Given the description of an element on the screen output the (x, y) to click on. 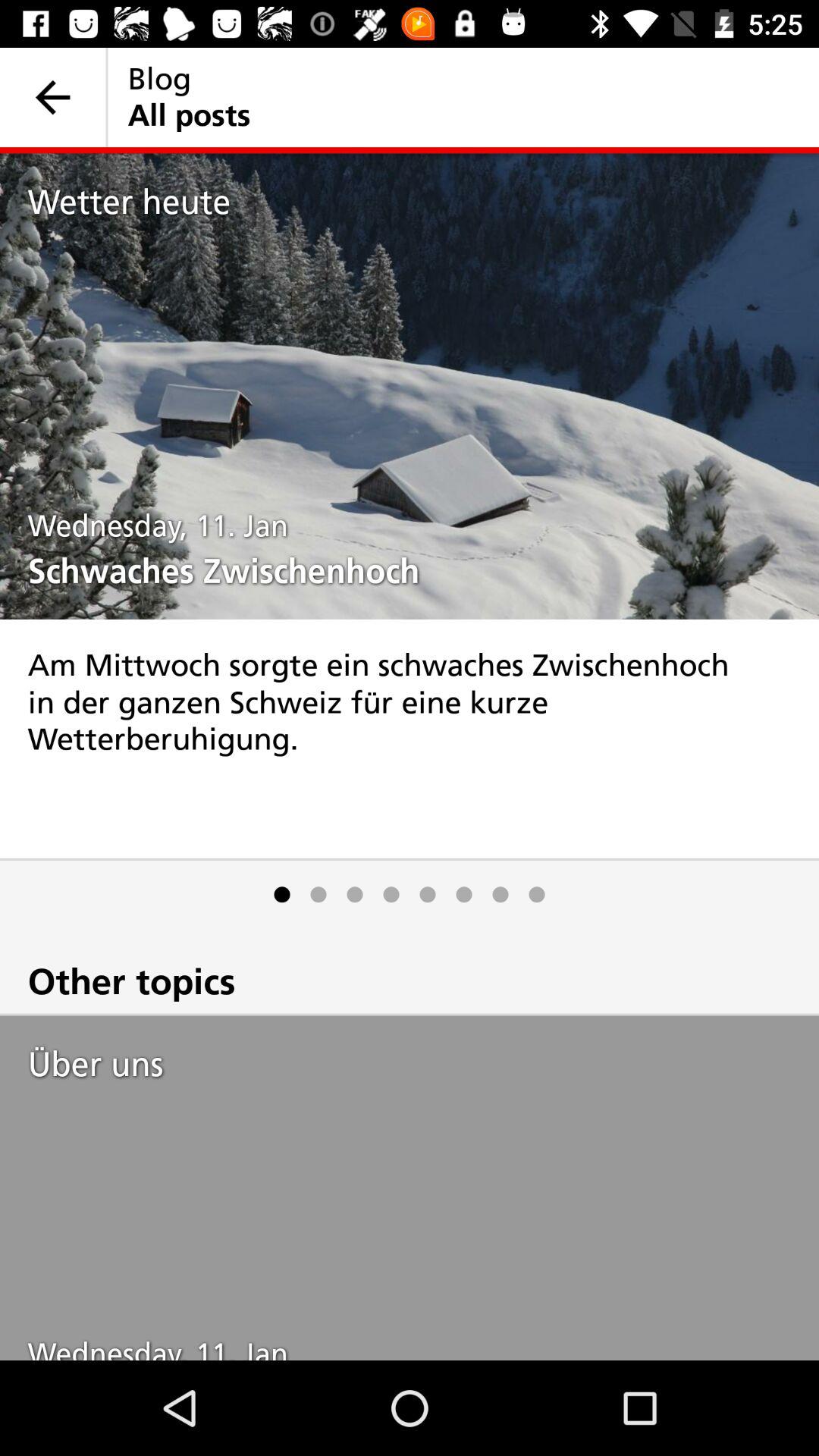
select the icon above the wednesday, 11. jan item (423, 1063)
